Given the description of an element on the screen output the (x, y) to click on. 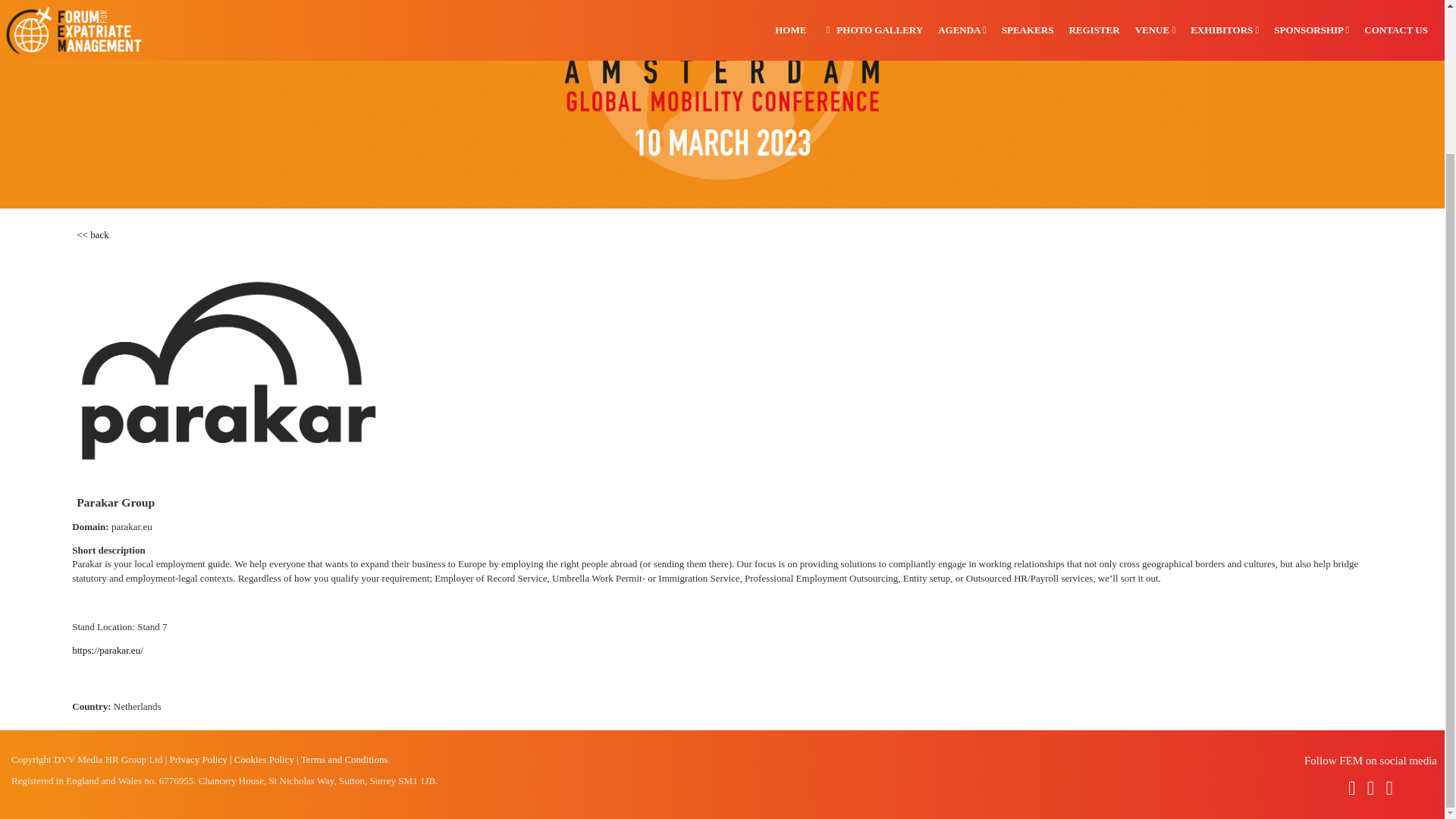
Privacy Policy (198, 758)
Cookies Policy (264, 758)
Terms and Conditions (344, 758)
